Given the description of an element on the screen output the (x, y) to click on. 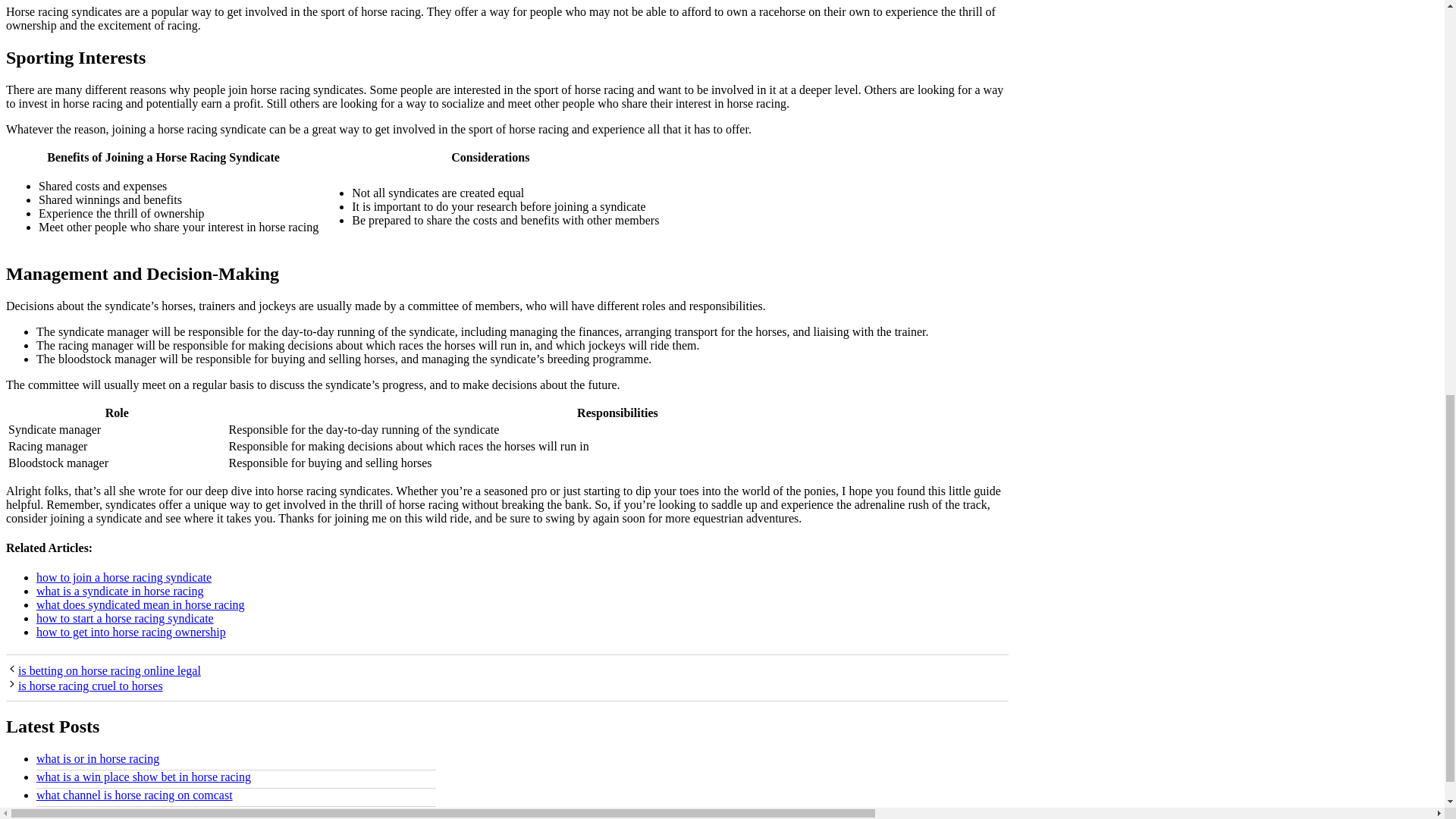
how to start a horse racing syndicate (125, 617)
what is a syndicate in horse racing (119, 590)
what is or in horse racing (97, 758)
what does syndicated mean in horse racing (140, 604)
is horse racing cruel to horses (90, 685)
is betting on horse racing online legal (108, 670)
what is a win place show bet in horse racing (143, 776)
how to join a horse racing syndicate (123, 576)
what channel is horse racing on comcast (134, 794)
how to get into horse racing ownership (130, 631)
